Given the description of an element on the screen output the (x, y) to click on. 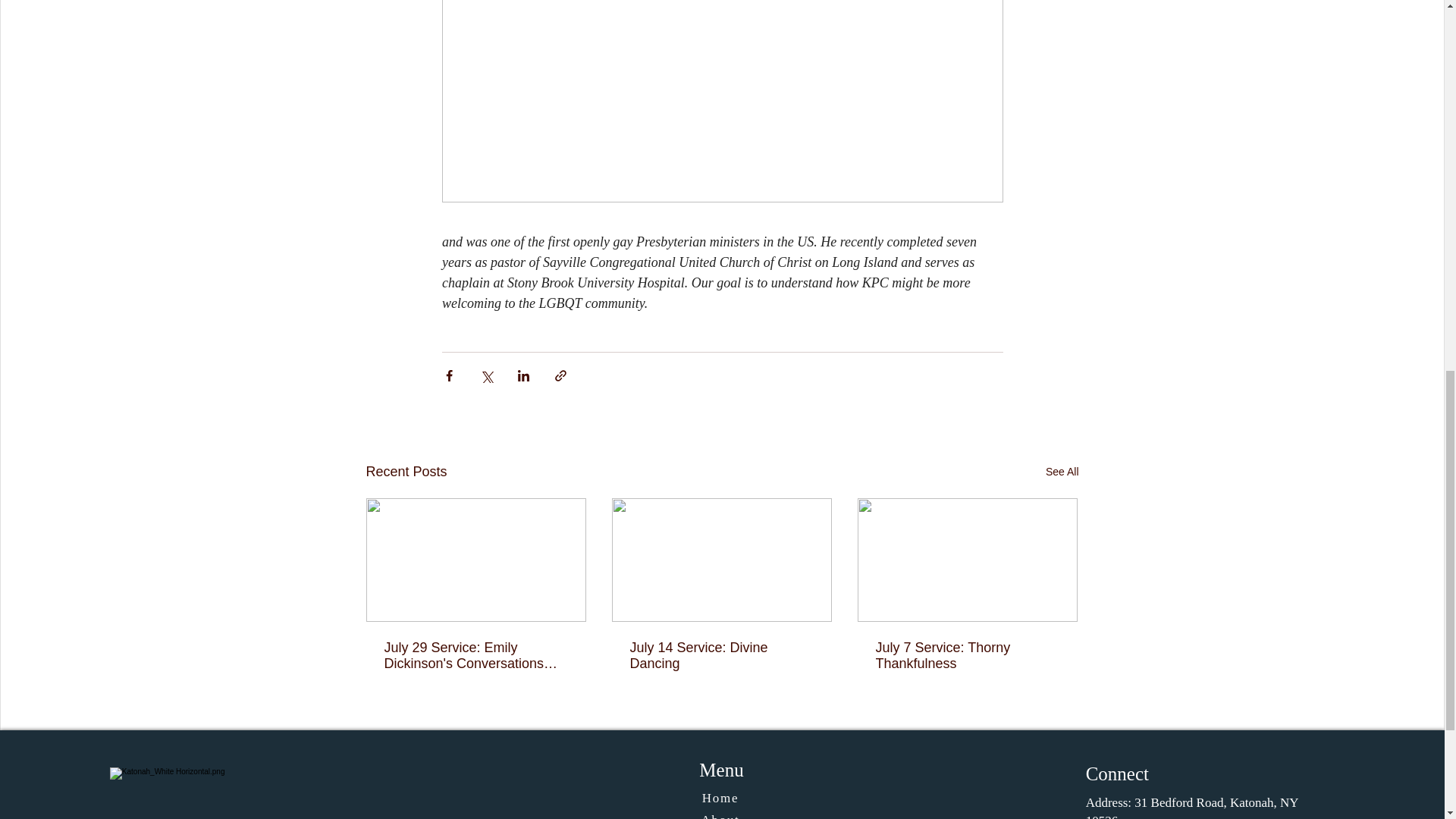
See All (1061, 472)
